Given the description of an element on the screen output the (x, y) to click on. 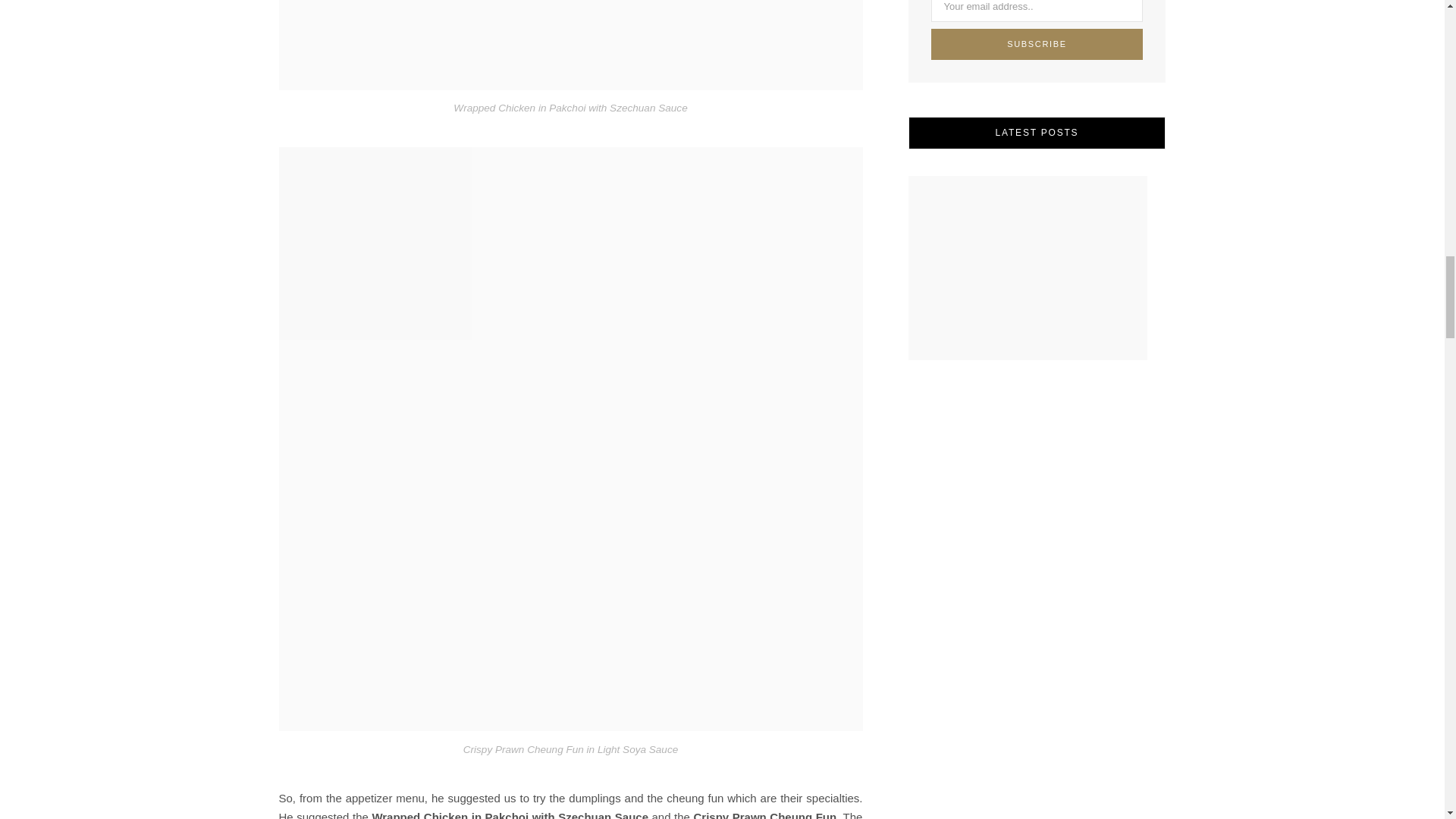
Subscribe (1036, 43)
Accessorizing with Pearls: A Guide for Every Occasion (1028, 268)
